Given the description of an element on the screen output the (x, y) to click on. 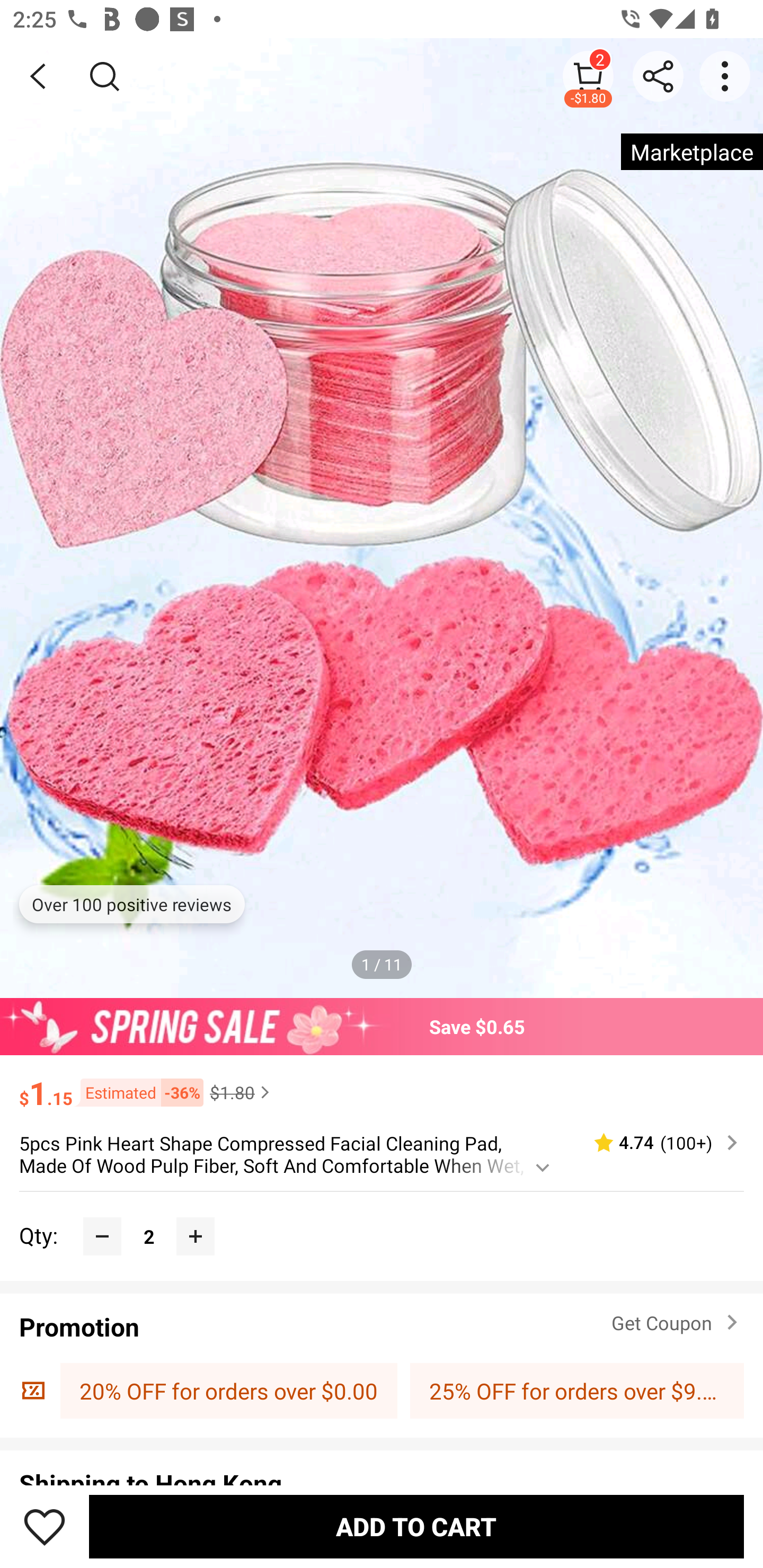
BACK (38, 75)
2 -$1.80 (588, 75)
1 / 11 (381, 964)
Save $0.65 (381, 1026)
$1.15 Estimated -36% $1.80 (381, 1084)
Estimated -36% (137, 1092)
$1.80 (241, 1091)
4.74 (100‎+) (658, 1142)
Qty: 2 (381, 1216)
ADD TO CART (416, 1526)
Save (44, 1526)
